Given the description of an element on the screen output the (x, y) to click on. 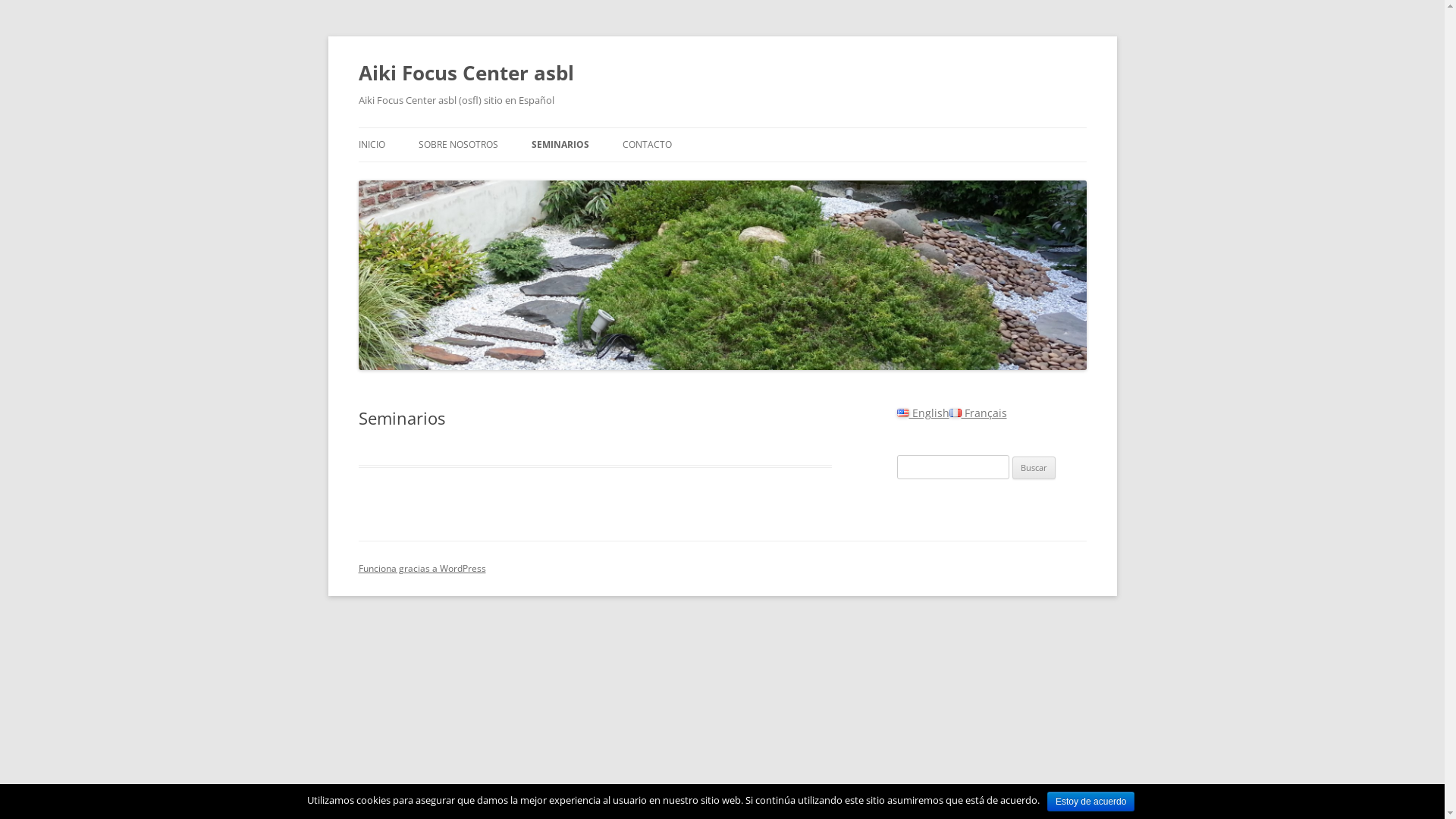
SOBRE NOSOTROS Element type: text (458, 144)
Aiki Focus Center asbl Element type: text (465, 72)
English Element type: text (922, 412)
CONTACTO Element type: text (646, 144)
KI TANGO Element type: text (606, 176)
Saltar al contenido Element type: text (721, 127)
Funciona gracias a WordPress Element type: text (421, 567)
Estoy de acuerdo Element type: text (1090, 801)
SEMINARIOS Element type: text (559, 144)
INICIO Element type: text (370, 144)
Buscar Element type: text (1033, 467)
